Given the description of an element on the screen output the (x, y) to click on. 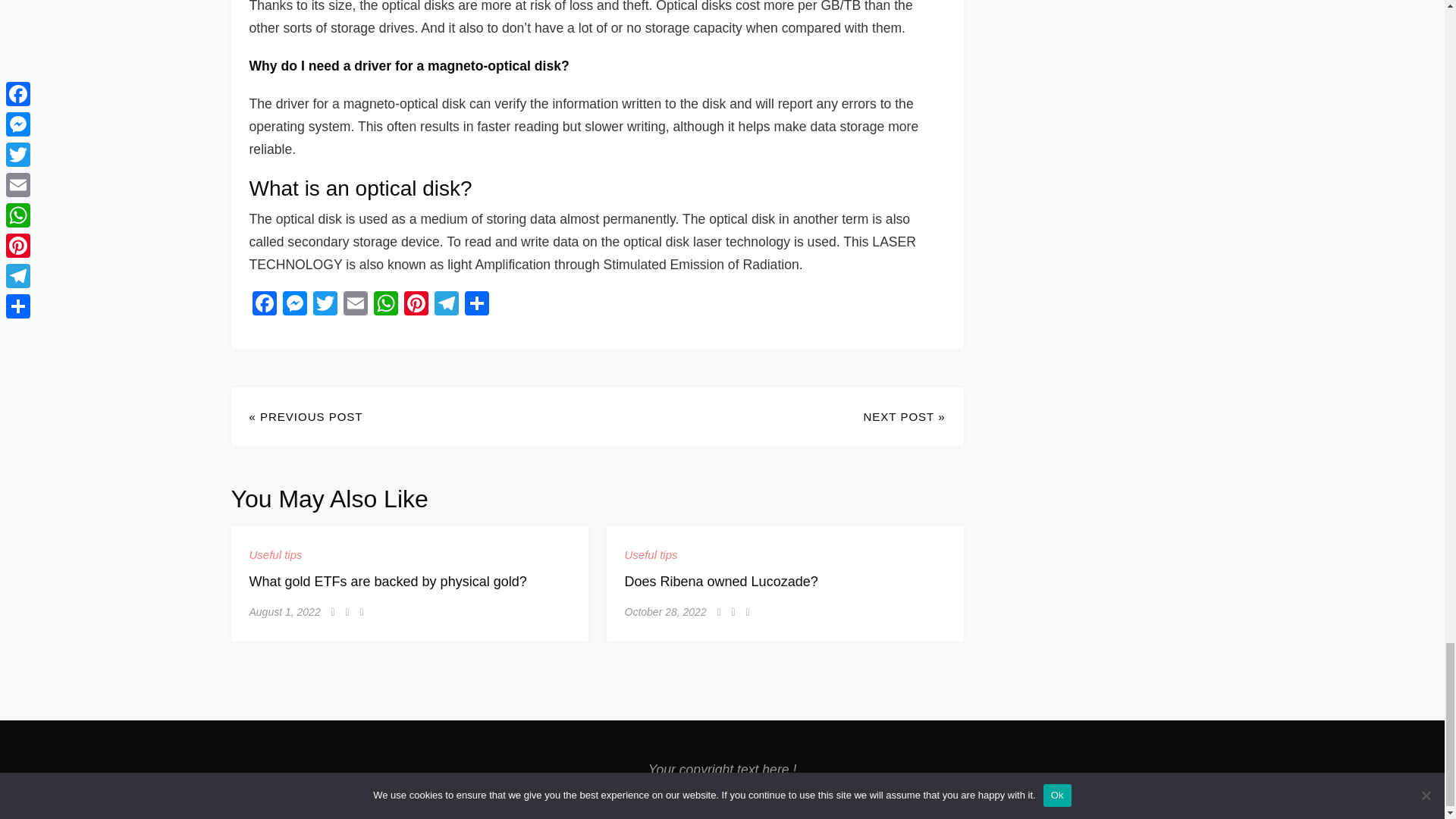
Facebook (263, 305)
Messenger (293, 305)
Facebook (263, 305)
Email (354, 305)
Telegram (445, 305)
Pinterest (415, 305)
August 1, 2022 (284, 611)
Telegram (445, 305)
What gold ETFs are backed by physical gold? (386, 581)
WhatsApp (384, 305)
